Given the description of an element on the screen output the (x, y) to click on. 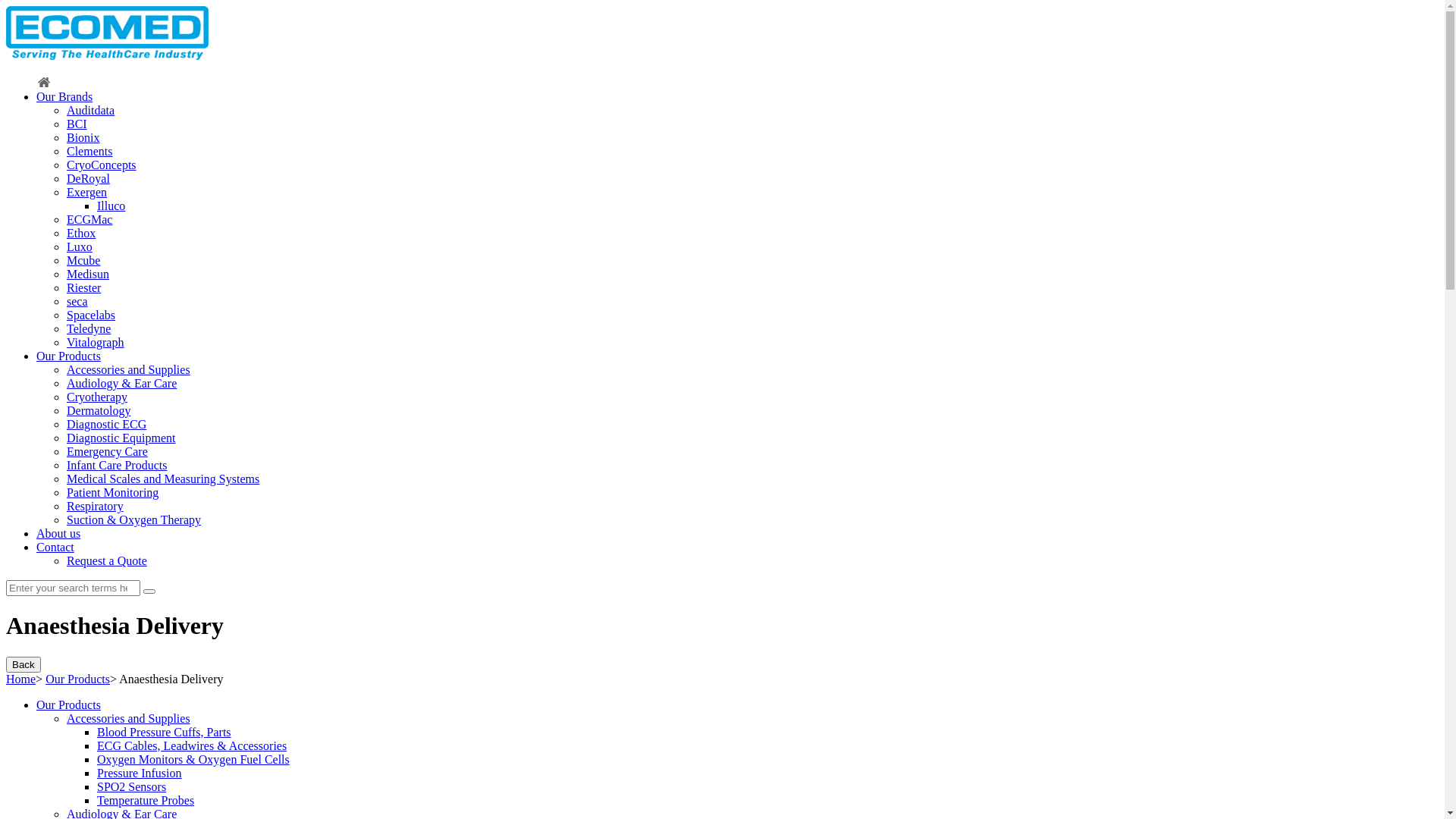
Temperature Probes Element type: text (145, 799)
Blood Pressure Cuffs, Parts Element type: text (164, 731)
Respiratory Element type: text (94, 505)
Our Products Element type: text (68, 355)
Mcube Element type: text (83, 260)
Our Products Element type: text (77, 678)
Back Element type: text (23, 664)
BCI Element type: text (76, 123)
Dermatology Element type: text (98, 410)
Suction & Oxygen Therapy Element type: text (133, 519)
Bionix Element type: text (83, 137)
Audiology & Ear Care Element type: text (121, 382)
Pressure Infusion Element type: text (139, 772)
Our Products Element type: text (68, 704)
Ecomed Element type: hover (107, 32)
Search for: Element type: hover (73, 588)
Request a Quote Element type: text (106, 560)
Teledyne Element type: text (88, 328)
Home Element type: text (20, 678)
Ethox Element type: text (80, 232)
ECG Cables, Leadwires & Accessories Element type: text (191, 745)
Contact Element type: text (55, 546)
Cryotherapy Element type: text (96, 396)
ECGMac Element type: text (89, 219)
CryoConcepts Element type: text (101, 164)
Diagnostic Equipment Element type: text (120, 437)
Accessories and Supplies Element type: text (128, 718)
Exergen Element type: text (86, 191)
Auditdata Element type: text (90, 109)
DeRoyal Element type: text (87, 178)
Clements Element type: text (89, 150)
Illuco Element type: text (111, 205)
About us Element type: text (58, 533)
Spacelabs Element type: text (90, 314)
Patient Monitoring Element type: text (112, 492)
Accessories and Supplies Element type: text (128, 369)
Medisun Element type: text (87, 273)
Our Brands Element type: text (64, 96)
seca Element type: text (76, 300)
SPO2 Sensors Element type: text (131, 786)
Diagnostic ECG Element type: text (106, 423)
Luxo Element type: text (79, 246)
Vitalograph Element type: text (94, 341)
Emergency Care Element type: text (106, 451)
Oxygen Monitors & Oxygen Fuel Cells Element type: text (193, 759)
Riester Element type: text (83, 287)
Medical Scales and Measuring Systems Element type: text (162, 478)
Infant Care Products Element type: text (116, 464)
Home Element type: text (43, 82)
